Given the description of an element on the screen output the (x, y) to click on. 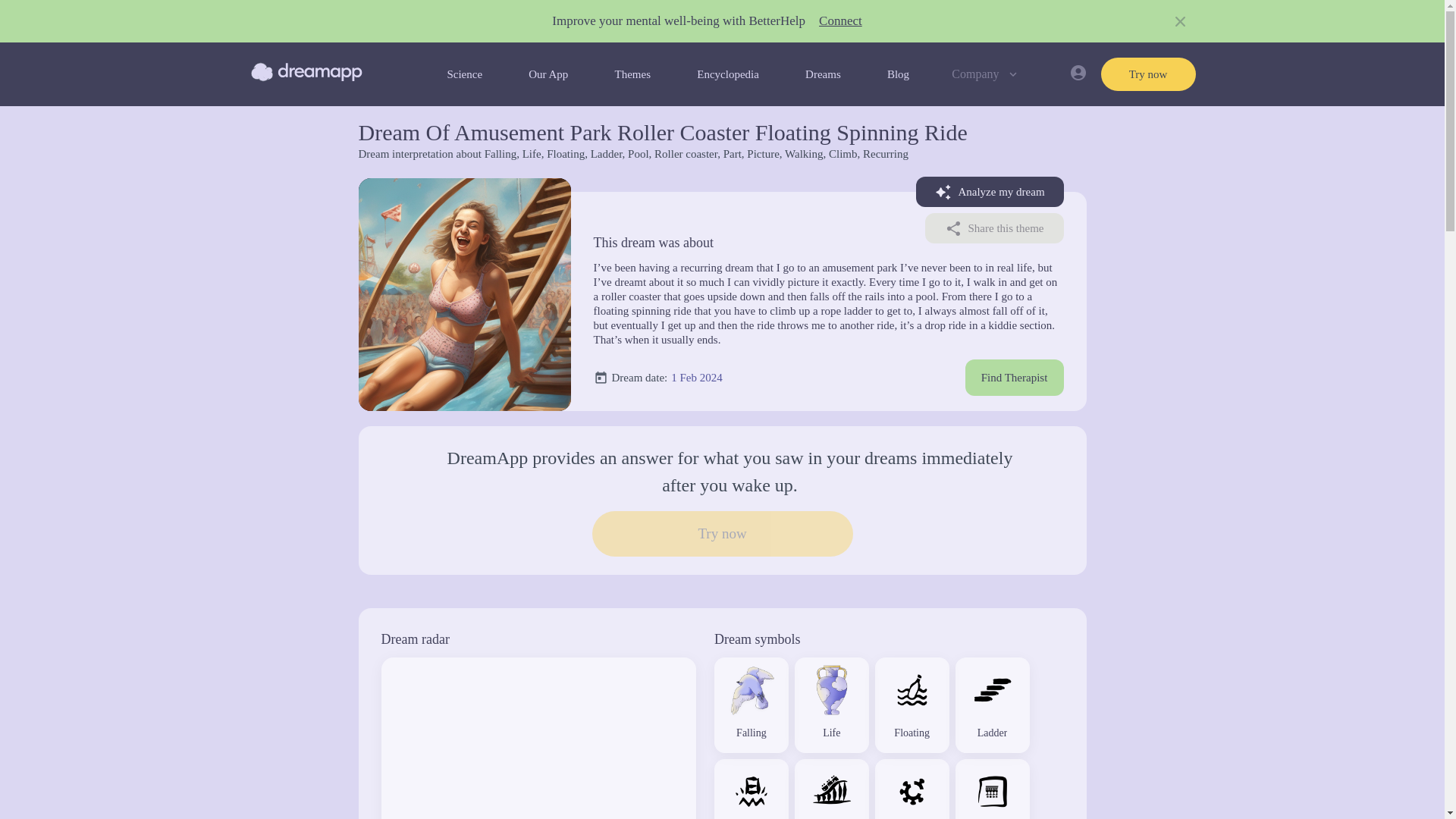
Company (986, 73)
Science (464, 74)
Connect (839, 21)
Analyze my dream (989, 191)
Dreams (823, 74)
Blog (897, 74)
Try now (1147, 73)
Encyclopedia (727, 74)
Our App (548, 74)
Share this theme (994, 227)
